Given the description of an element on the screen output the (x, y) to click on. 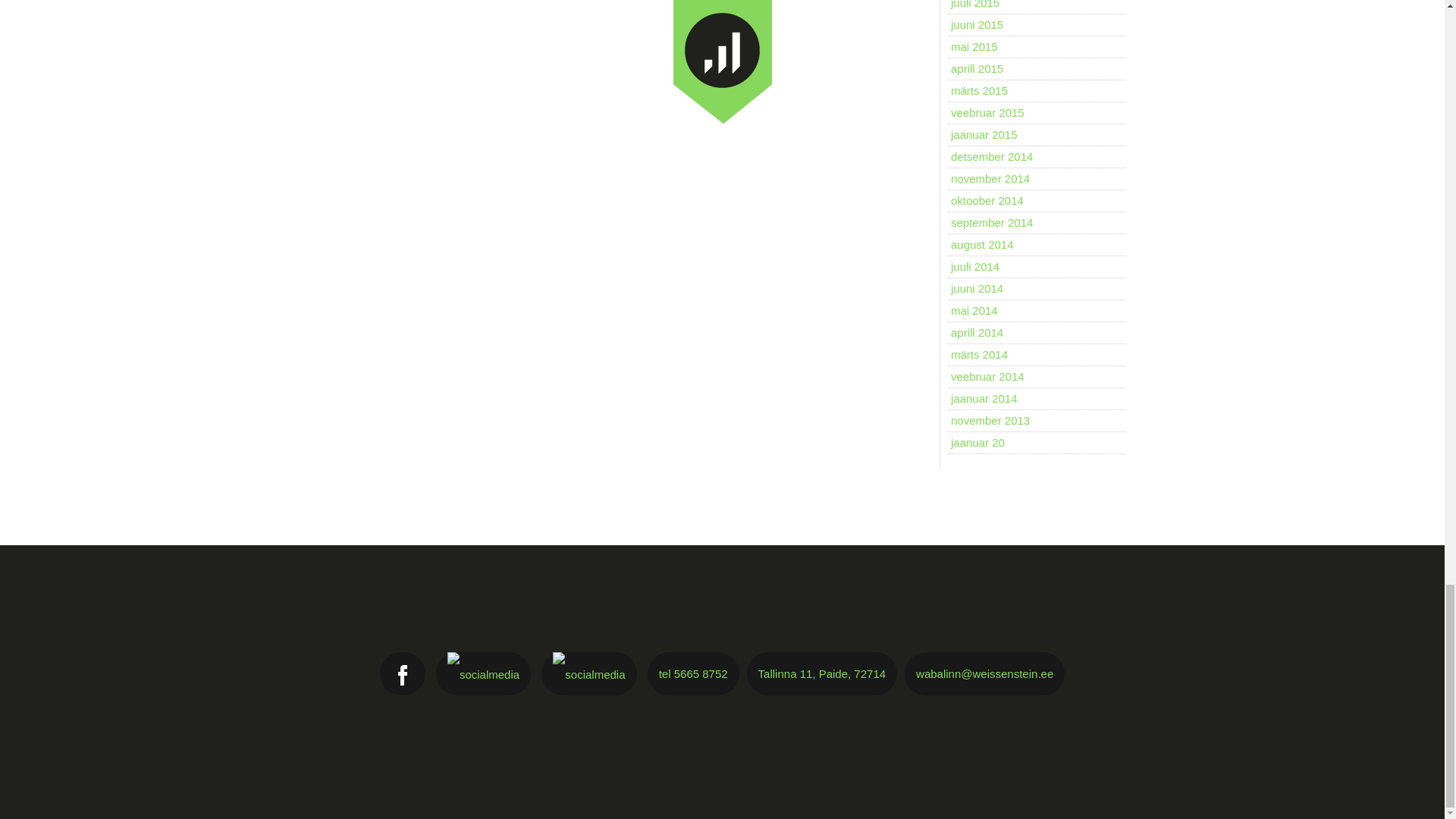
socialmedia (482, 674)
socialmedia (588, 674)
socialmedia (402, 674)
